Given the description of an element on the screen output the (x, y) to click on. 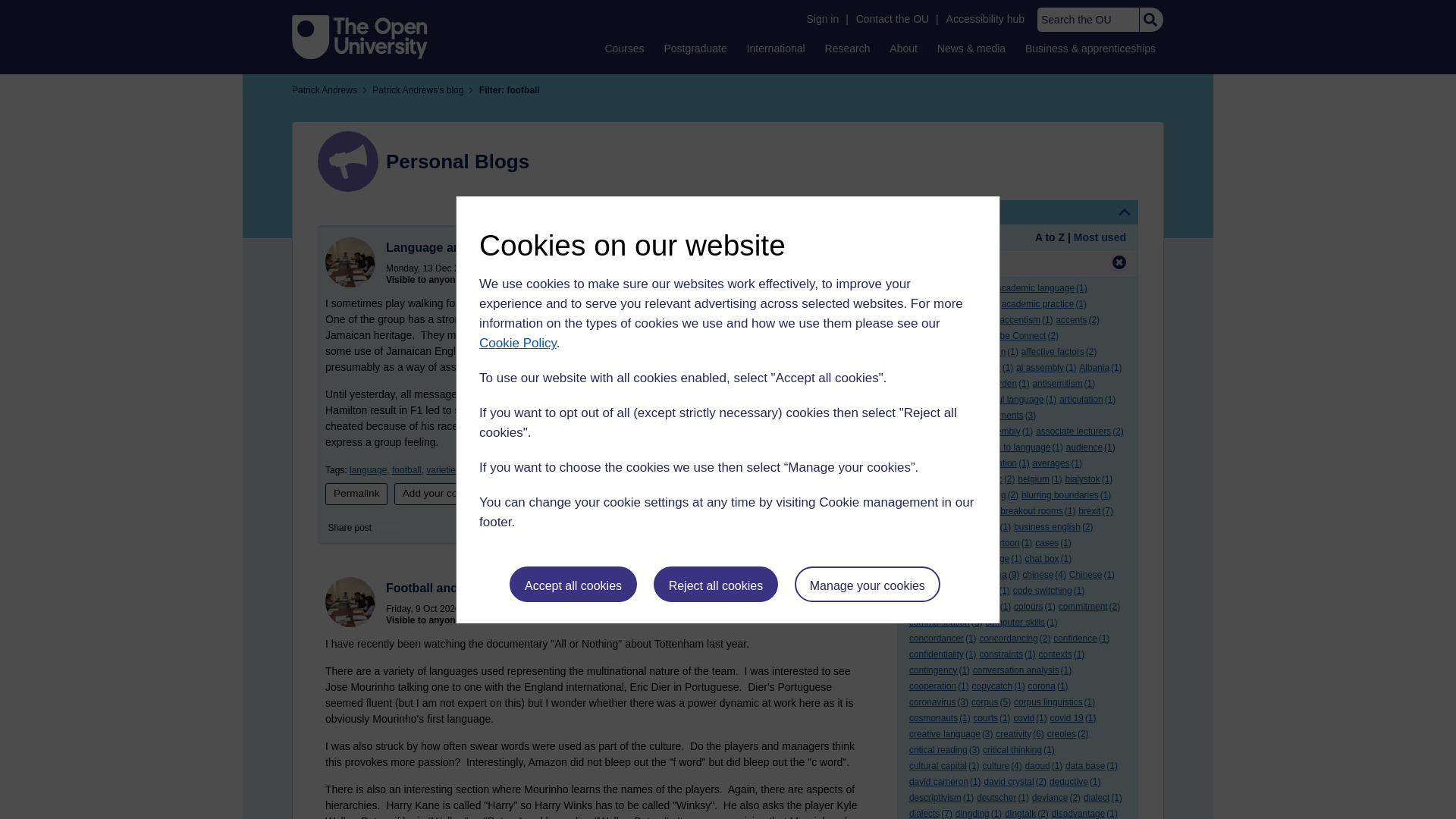
Research (847, 48)
Contact the OU (892, 19)
Courses (623, 48)
Cookie Policy (517, 342)
Postgraduate (695, 48)
Tags (1017, 211)
International (775, 48)
Sign in (822, 19)
The Open University (360, 36)
Accessibility hub (985, 19)
Accept all cookies (573, 583)
Search (1149, 19)
Click to remove filter tag (1118, 262)
Search (1149, 19)
